Given the description of an element on the screen output the (x, y) to click on. 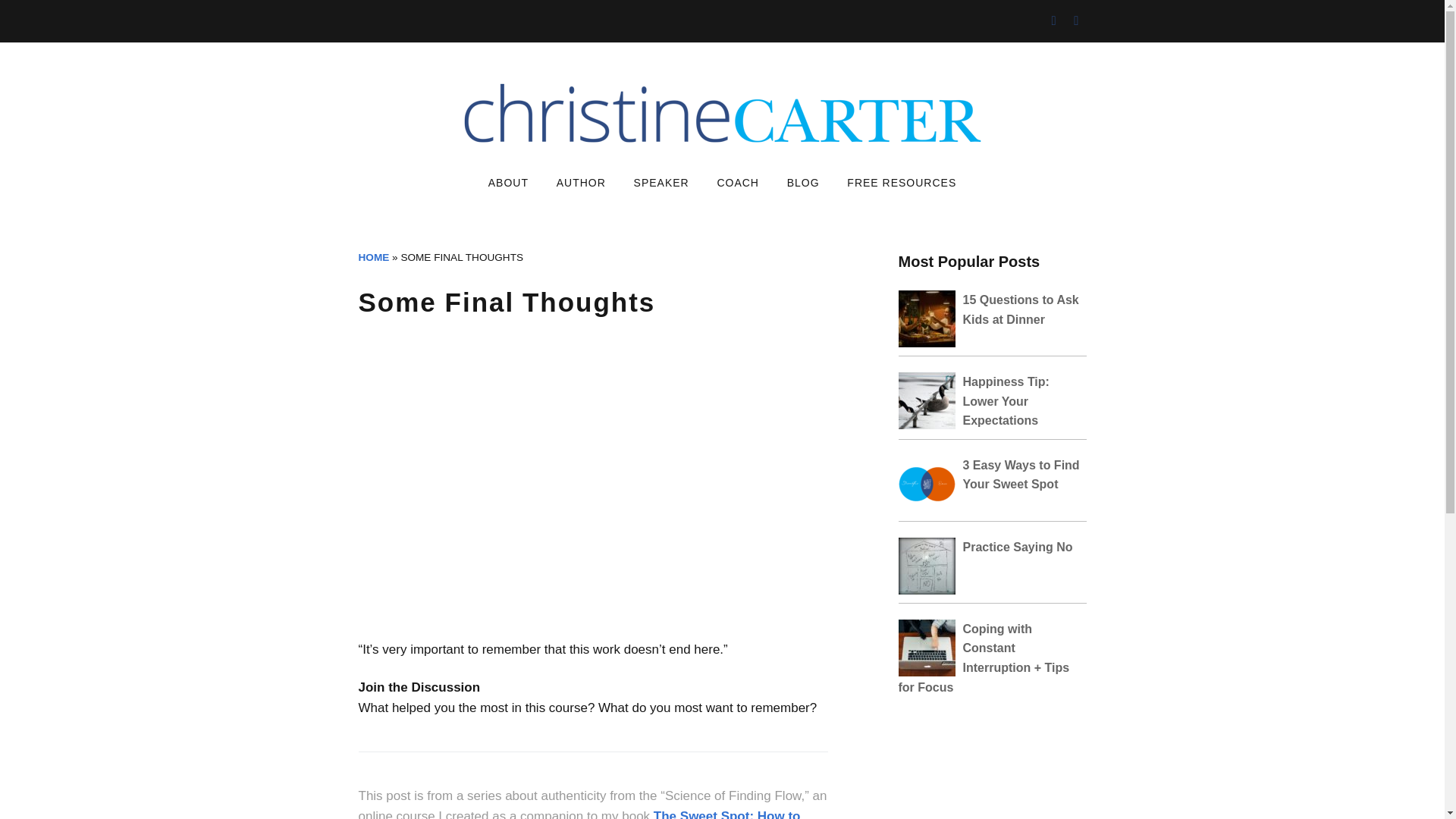
ABOUT (508, 183)
The Sweet Spot: How to Accomplish More by Doing Less (578, 814)
AUTHOR (580, 183)
SPEAKER (661, 183)
Practice Saying No (1017, 546)
FREE RESOURCES (901, 183)
15 Questions to Ask Kids at Dinner (1020, 309)
Happiness Tip: Lower Your Expectations (1005, 400)
COACH (737, 183)
BLOG (802, 183)
3 Easy Ways to Find Your Sweet Spot (1021, 474)
HOME (373, 256)
